Given the description of an element on the screen output the (x, y) to click on. 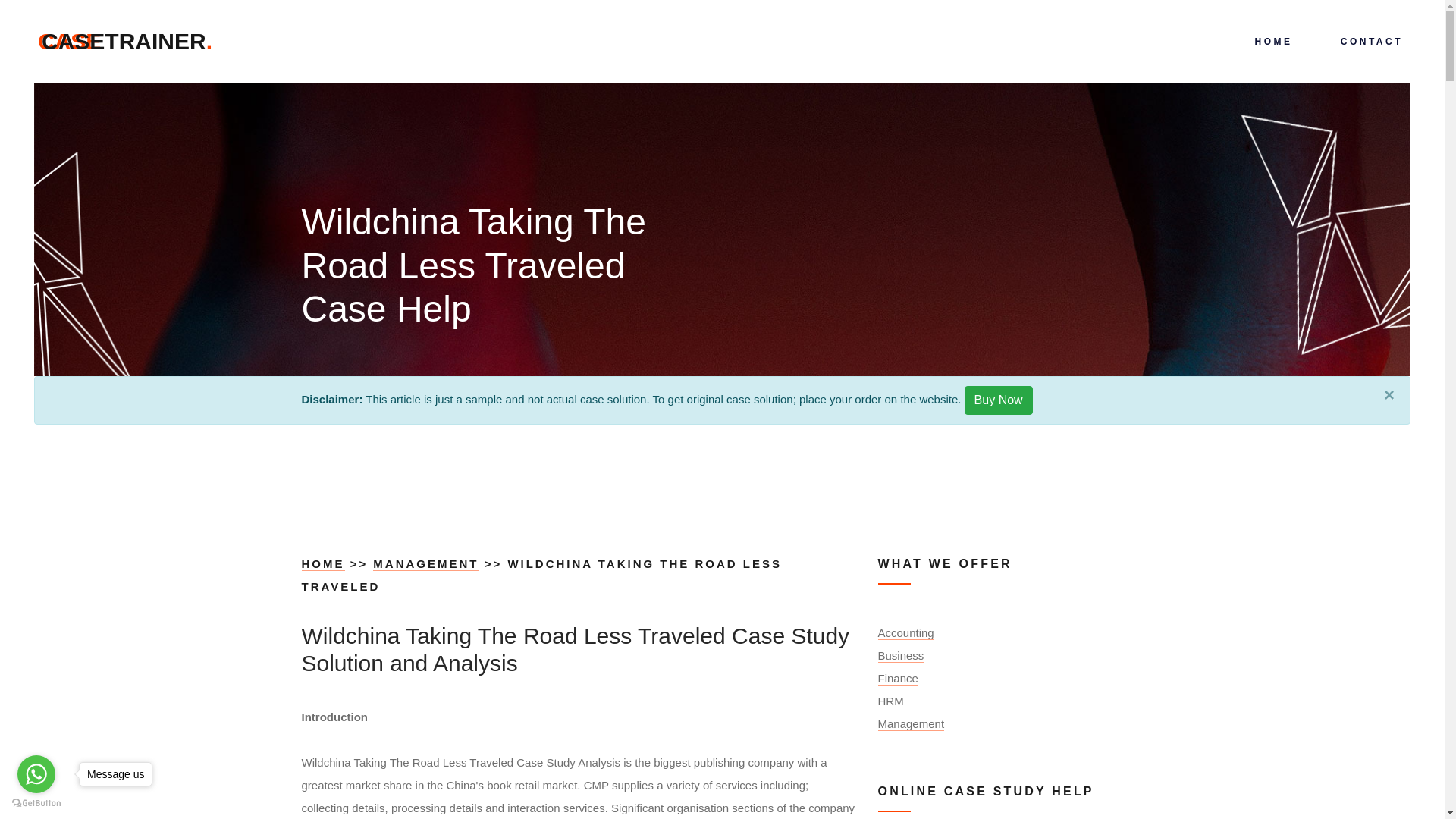
MANAGEMENT (425, 563)
Opens a widget where you can chat to one of our agents (1386, 792)
HOME (127, 41)
Buy Now (323, 563)
CONTACT (997, 399)
